Given the description of an element on the screen output the (x, y) to click on. 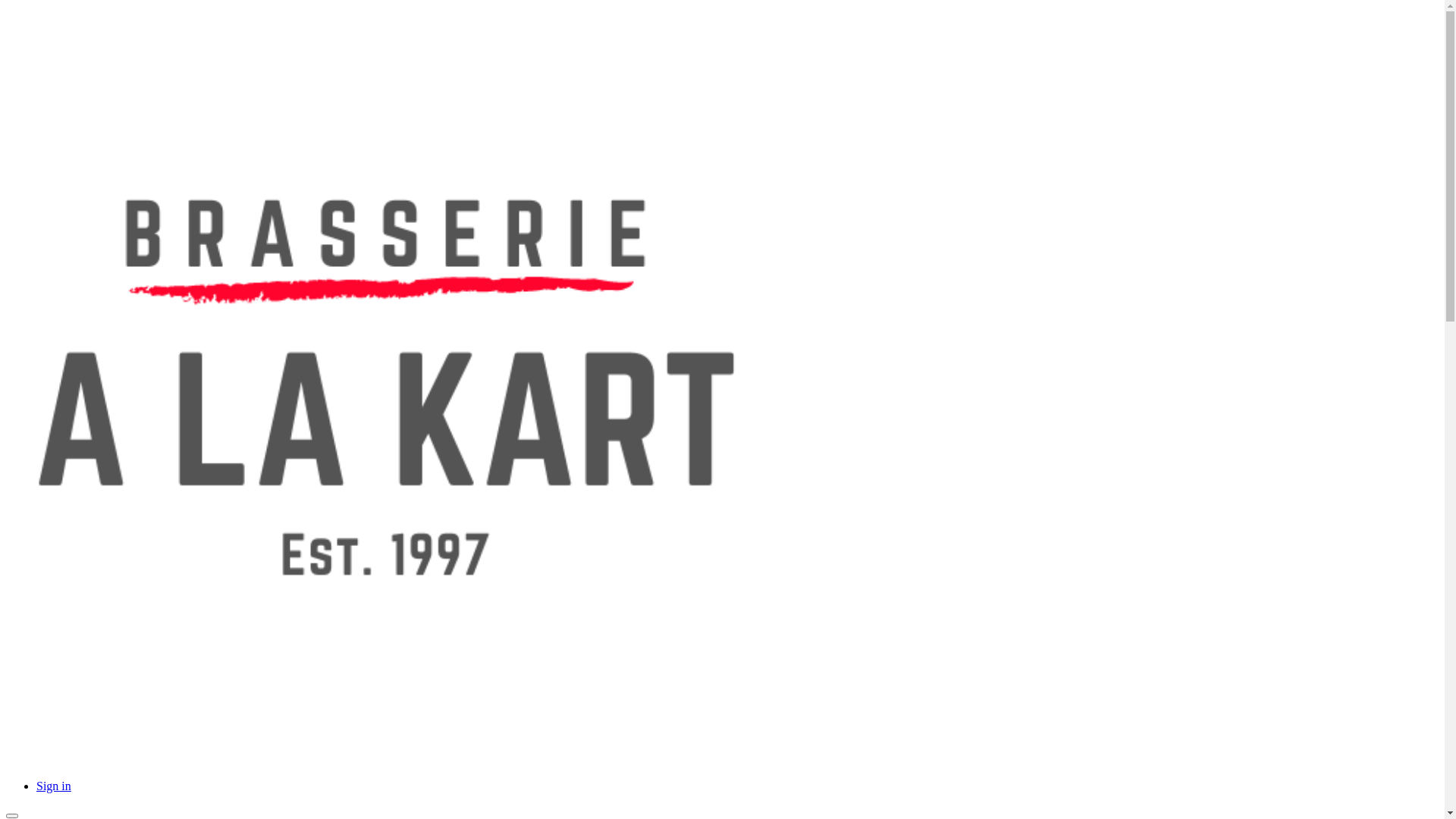
Brasserie Element type: hover (385, 759)
Sign in Element type: text (53, 785)
